Given the description of an element on the screen output the (x, y) to click on. 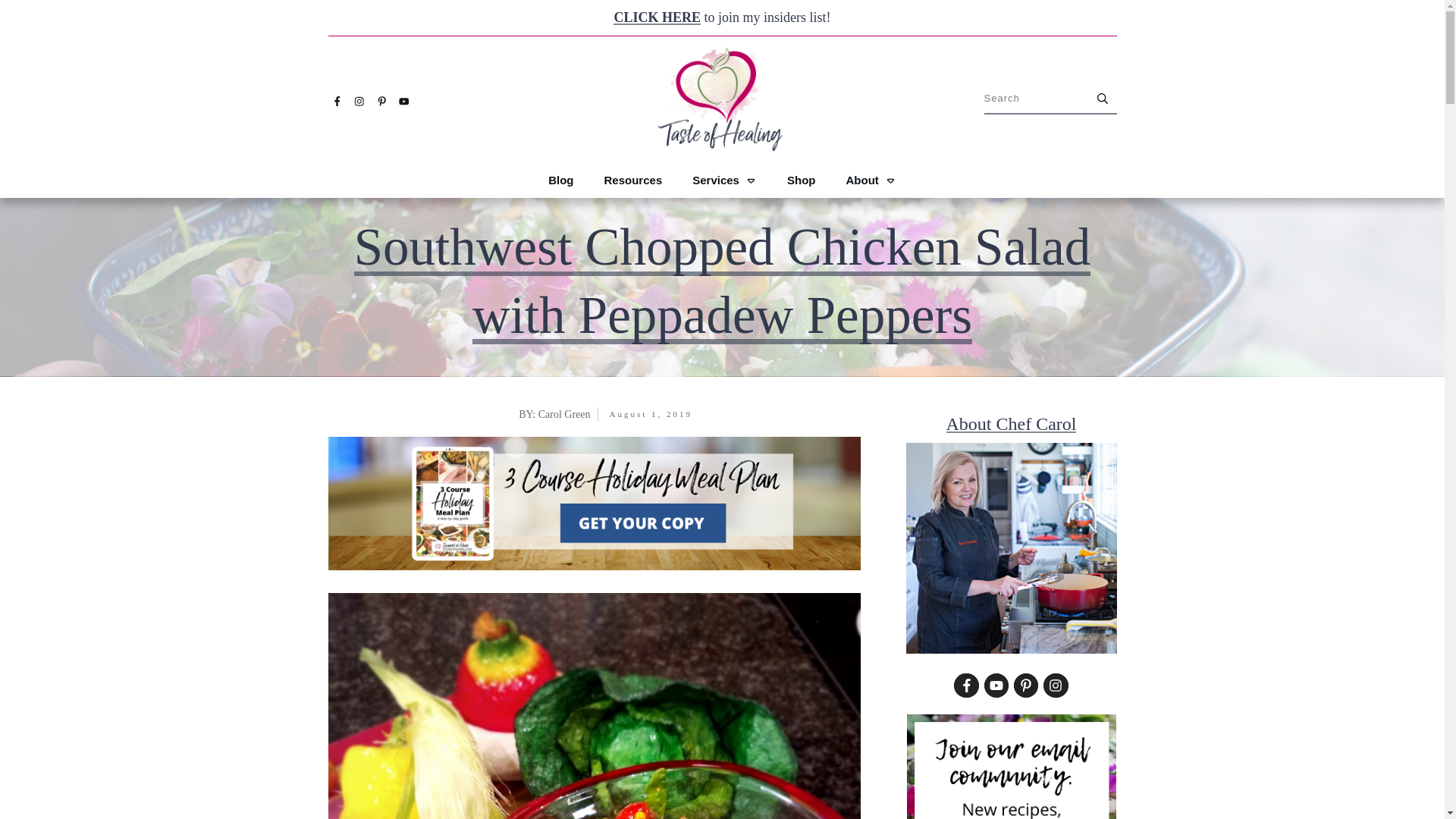
Shop (801, 179)
Southwest Chopped Chicken Salad with Peppadew Peppers (721, 280)
Get your copy of three course holiday meal plan (593, 503)
About (870, 179)
about (1010, 548)
Services (725, 179)
Southwest Chopped Chicken Salad with Peppadew Peppers (593, 705)
Blog (560, 179)
Southwest Chopped Chicken Salad with Peppadew Peppers (721, 280)
Resources (633, 179)
CLICK HERE (656, 17)
